Given the description of an element on the screen output the (x, y) to click on. 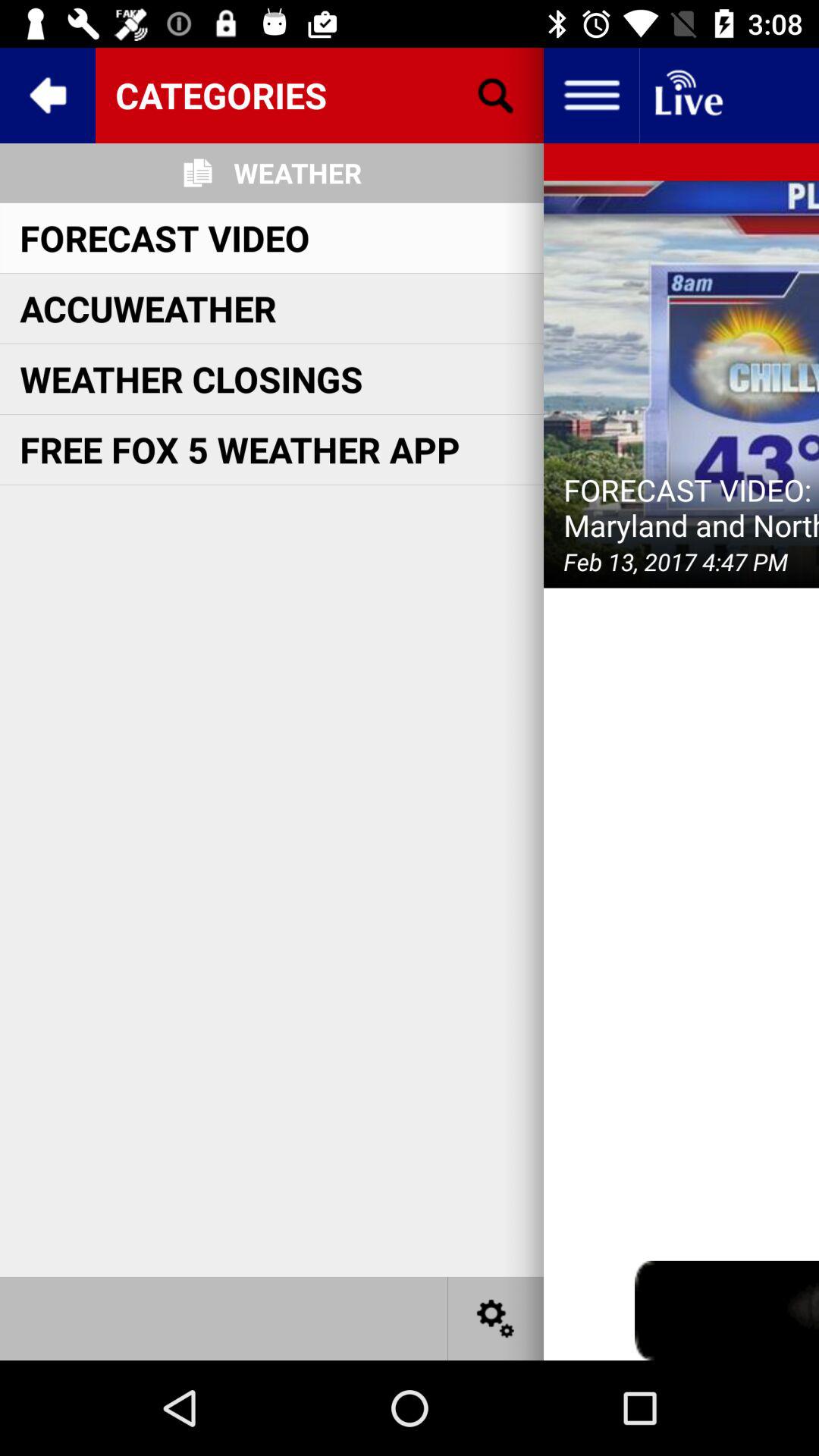
select live wireless (687, 95)
